Given the description of an element on the screen output the (x, y) to click on. 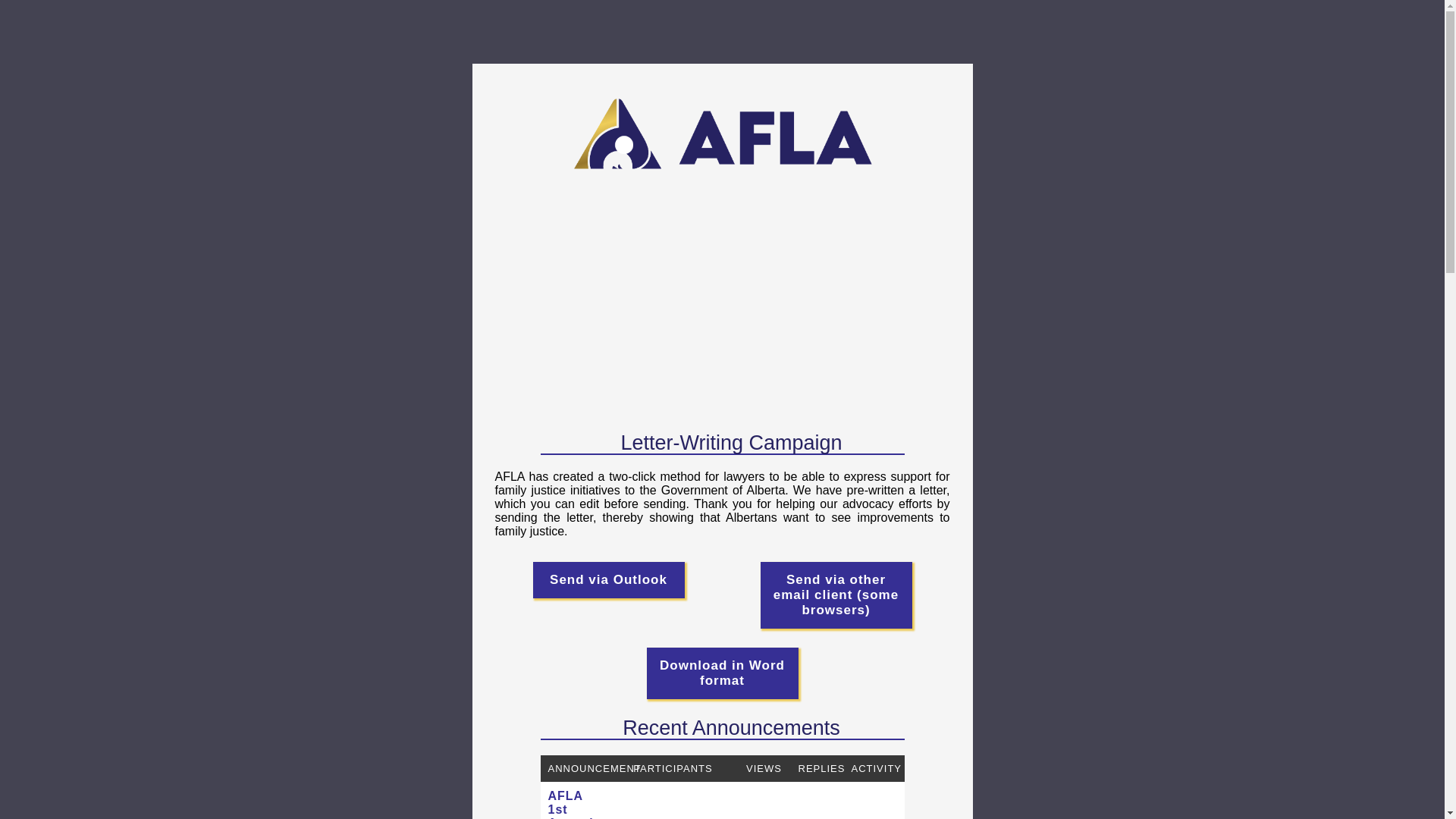
Download in Word format (721, 673)
Send via Outlook (608, 579)
